Given the description of an element on the screen output the (x, y) to click on. 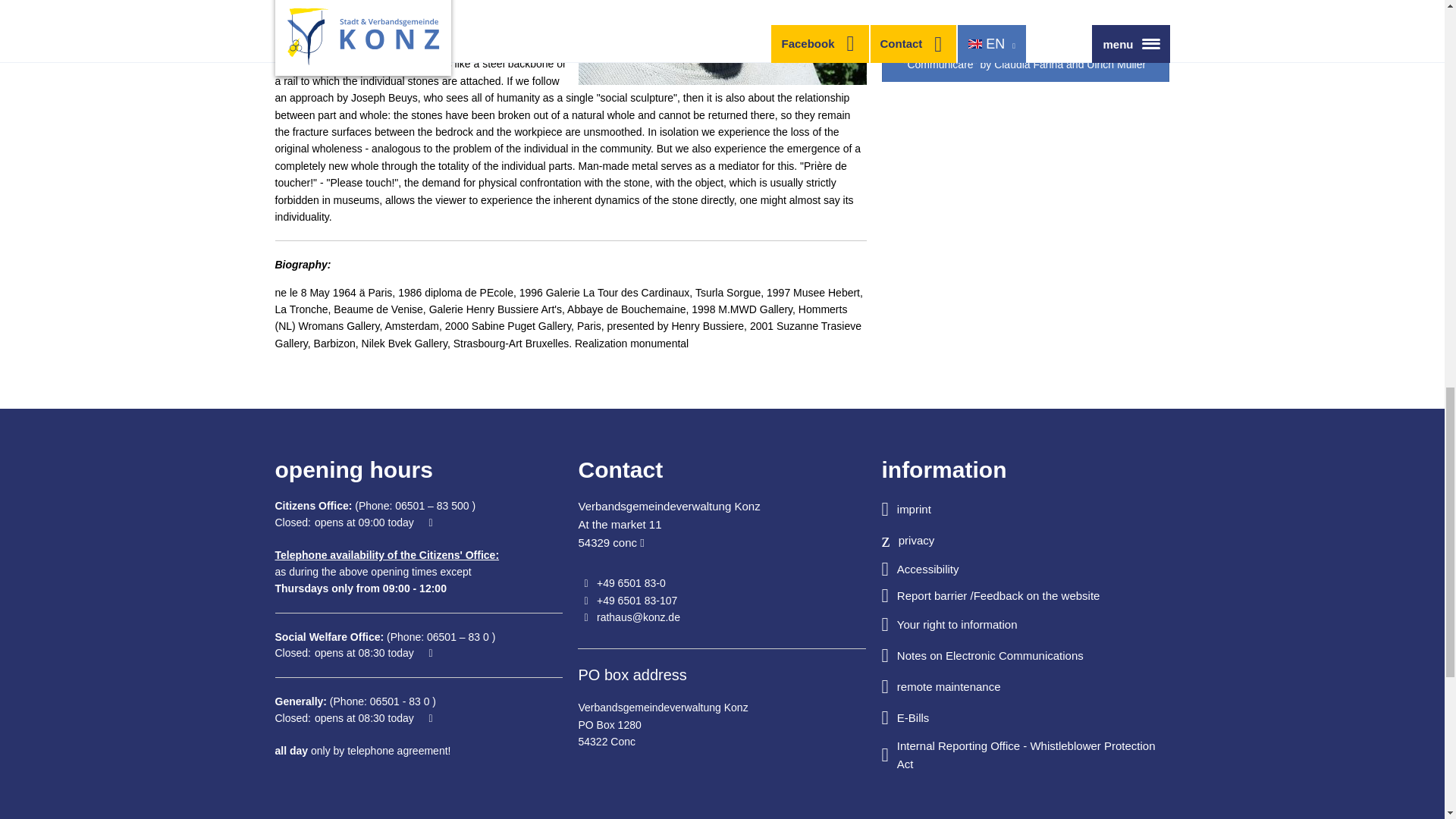
Go to website "Feedback on presence" (1024, 595)
Jump to Accessibility webpage (1024, 568)
Jump to "Imprint" website (1024, 508)
Go to Your Right to Information webpage (1024, 624)
Jump to "Privacy Policy" webpage (1024, 540)
Go to Electronic Communications Notices webpage (1024, 655)
Call 06501 - 83 0 (397, 701)
